Given the description of an element on the screen output the (x, y) to click on. 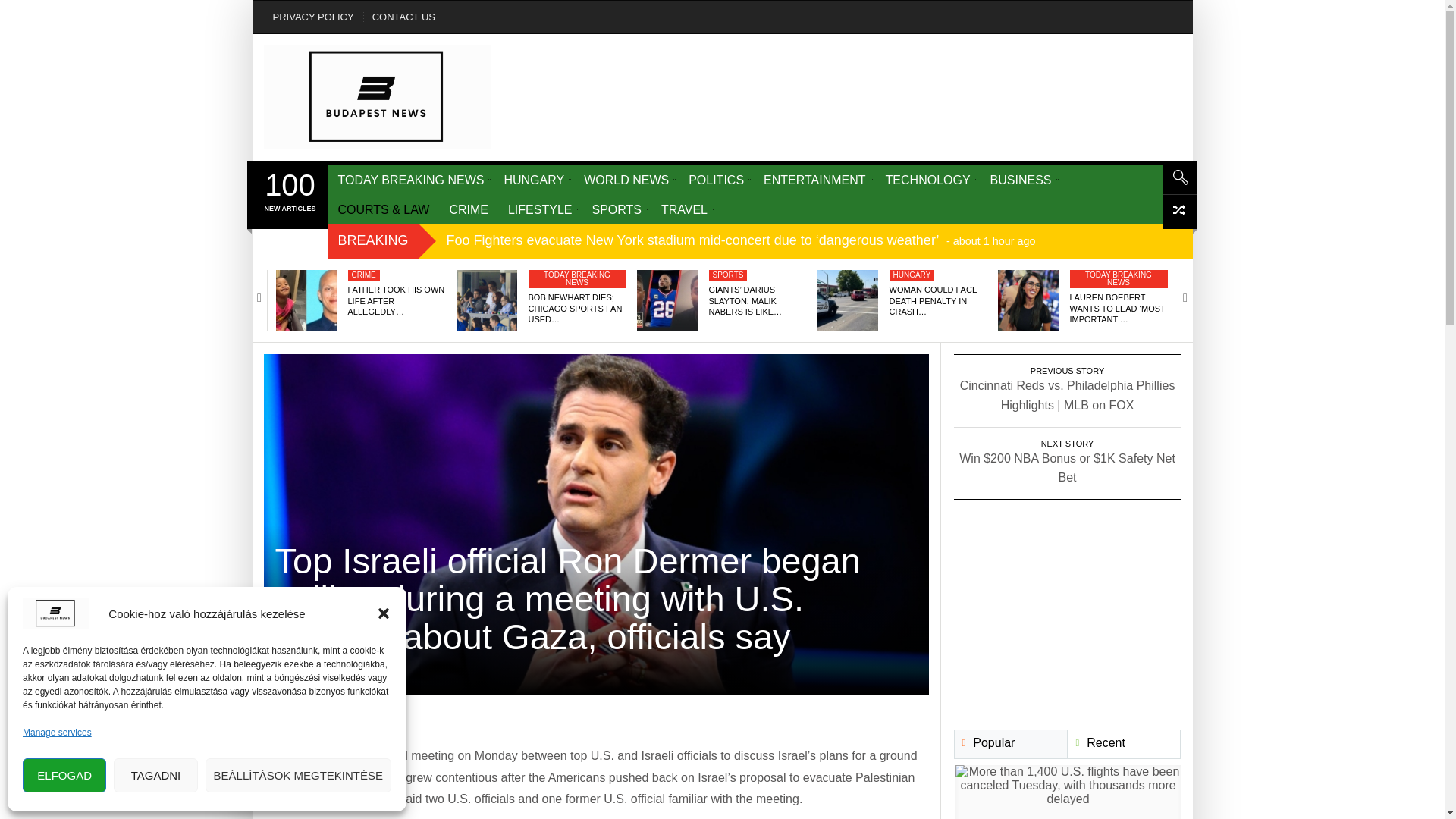
ELFOGAD (64, 775)
Budapest NEWS (377, 97)
Manage services (57, 732)
TAGADNI (154, 775)
CONTACT US (403, 16)
WORLD NEWS (625, 179)
PRIVACY POLICY (312, 16)
HUNGARY (533, 179)
TODAY BREAKING NEWS (410, 179)
